Given the description of an element on the screen output the (x, y) to click on. 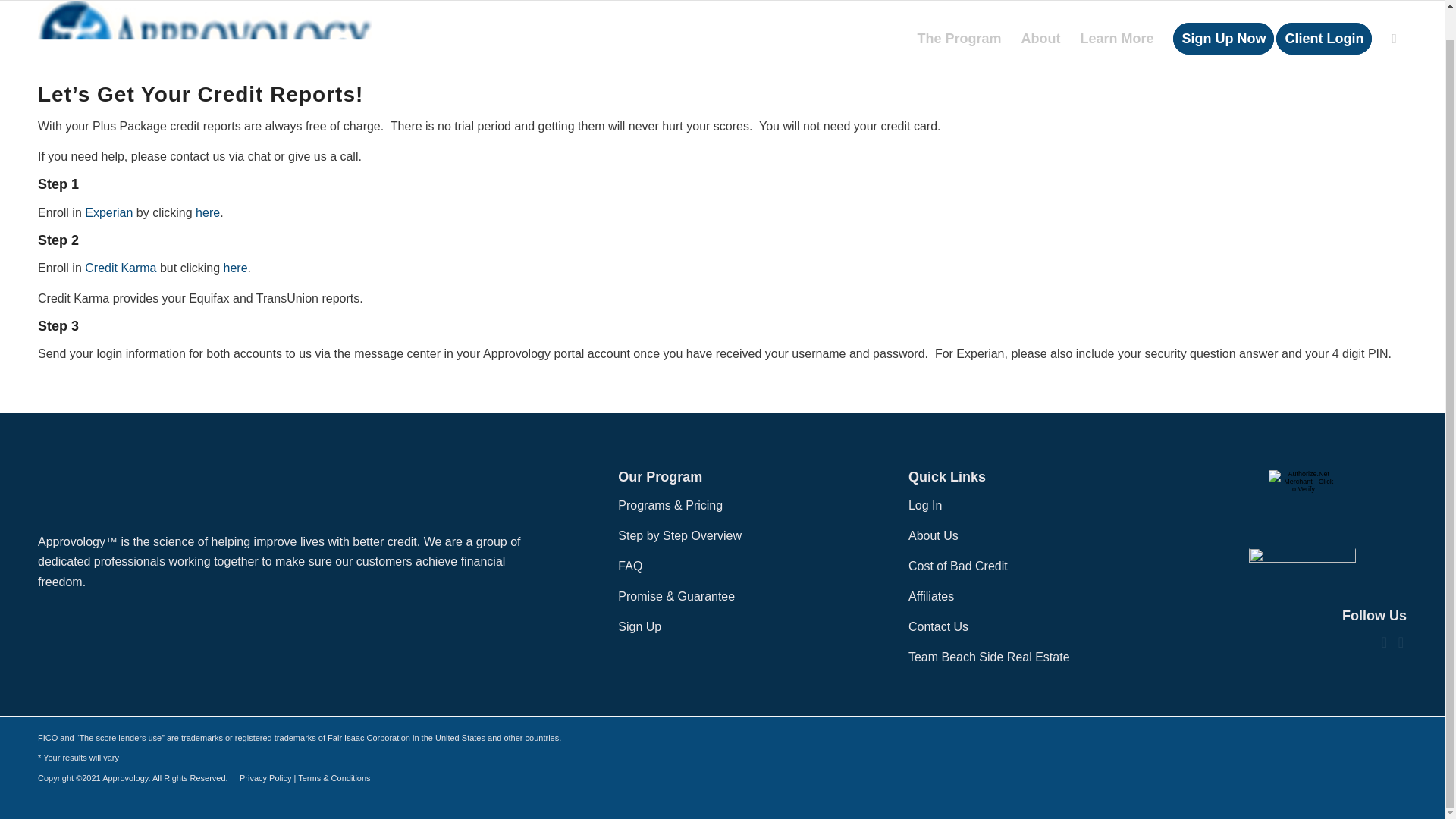
Sign Up Now (1223, 22)
Client Login (1328, 22)
Learn More (1116, 22)
Step by Step Overview (679, 535)
Privacy Policy (265, 777)
Sign Up (639, 626)
Log In (925, 504)
About (1040, 22)
Team Beach Side Real Estate (989, 656)
Affiliates (930, 595)
